Given the description of an element on the screen output the (x, y) to click on. 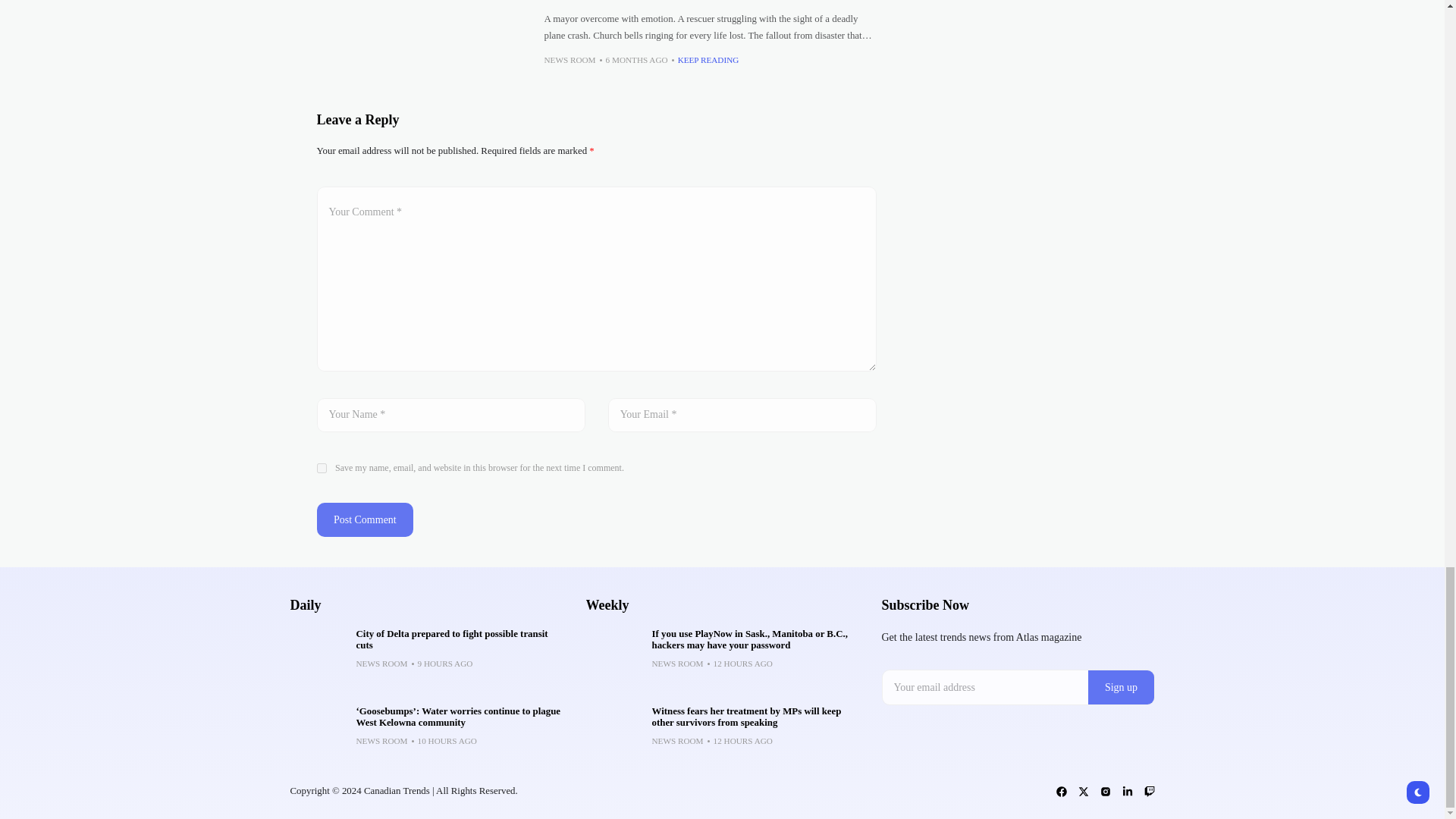
yes (321, 468)
Sign up (1120, 687)
Post Comment (365, 519)
